Given the description of an element on the screen output the (x, y) to click on. 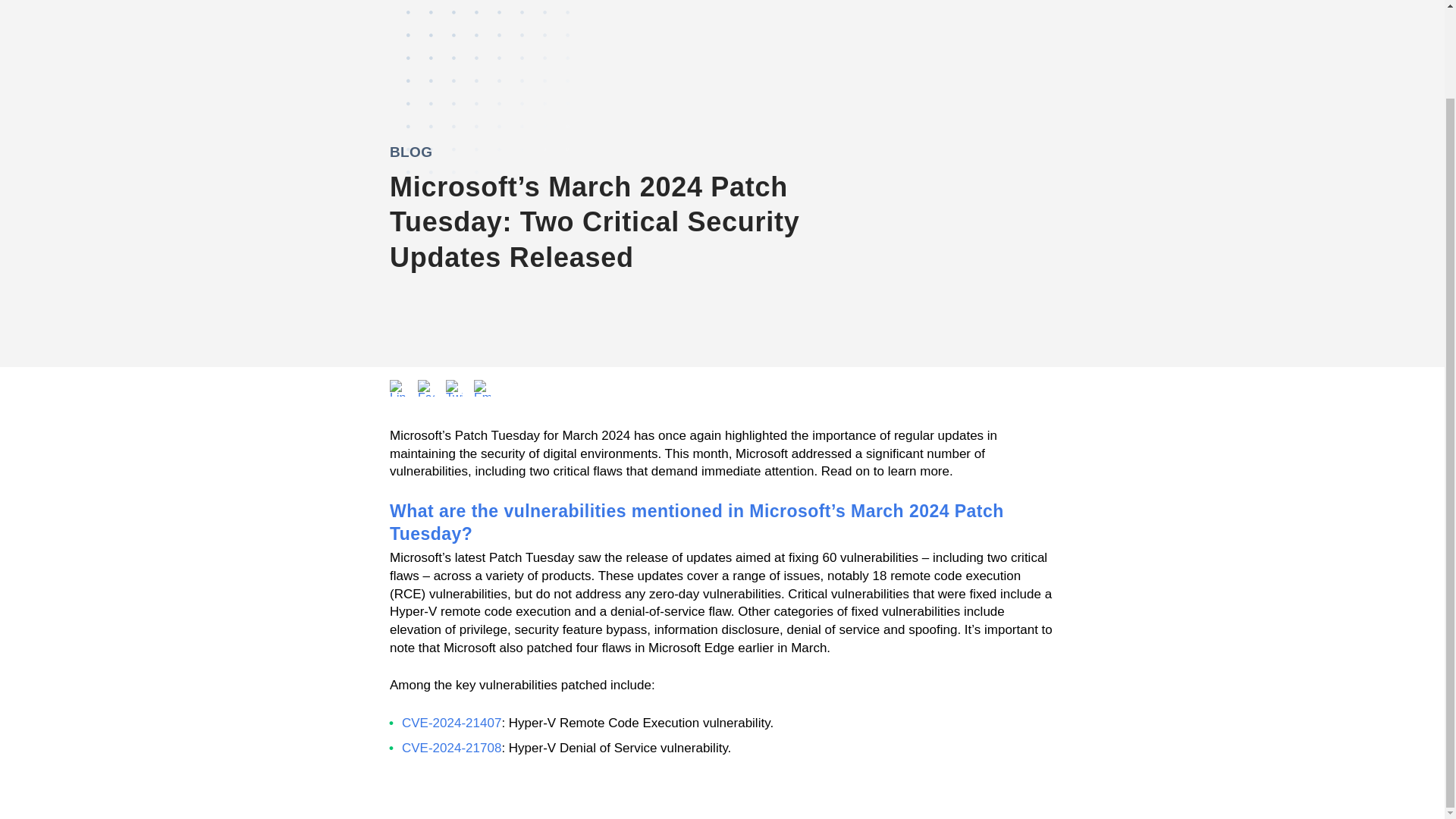
LinkedIn (398, 388)
Twitter (454, 388)
Email (482, 388)
Facebook (425, 388)
